Given the description of an element on the screen output the (x, y) to click on. 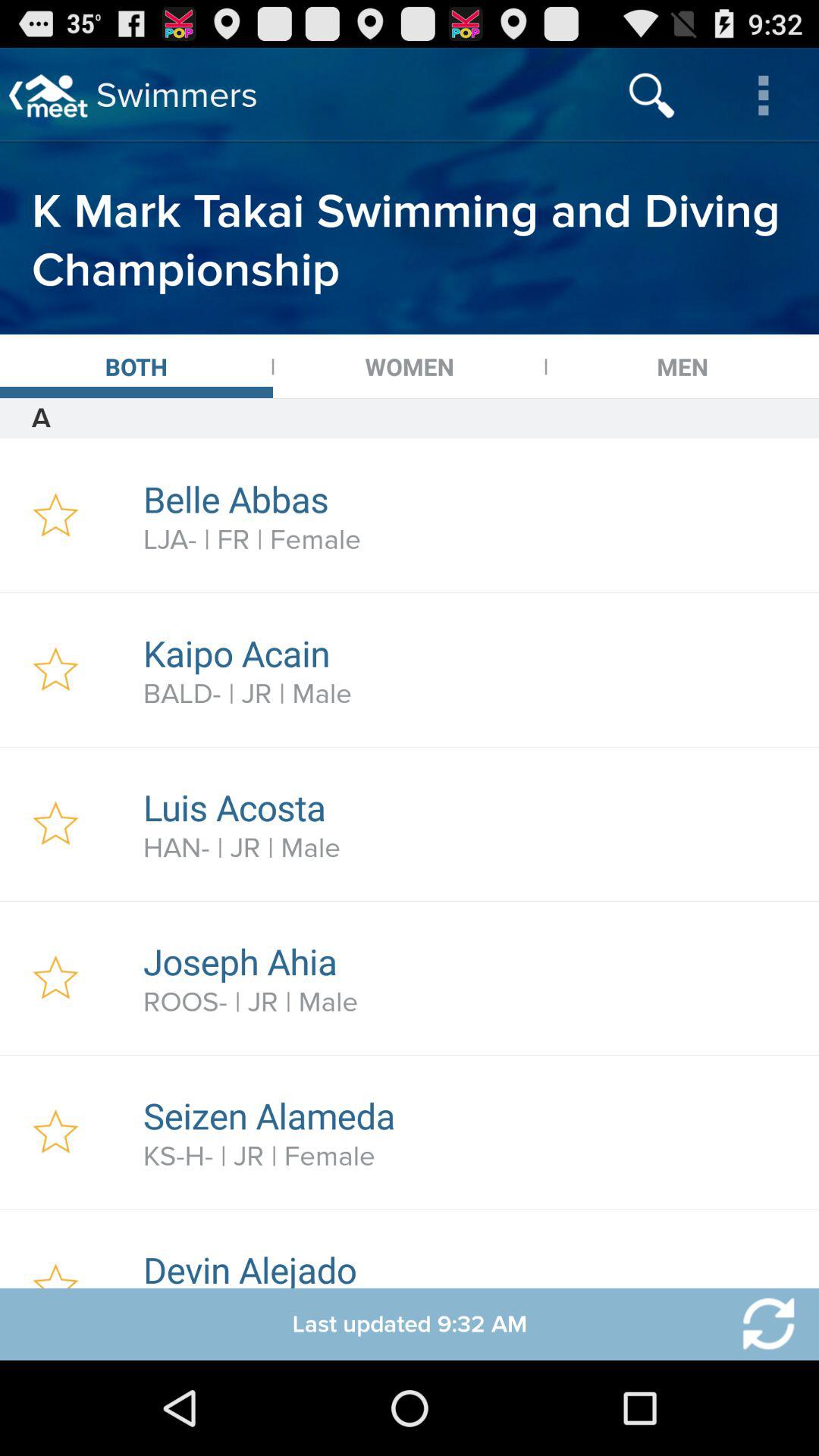
refresh page (759, 1324)
